Given the description of an element on the screen output the (x, y) to click on. 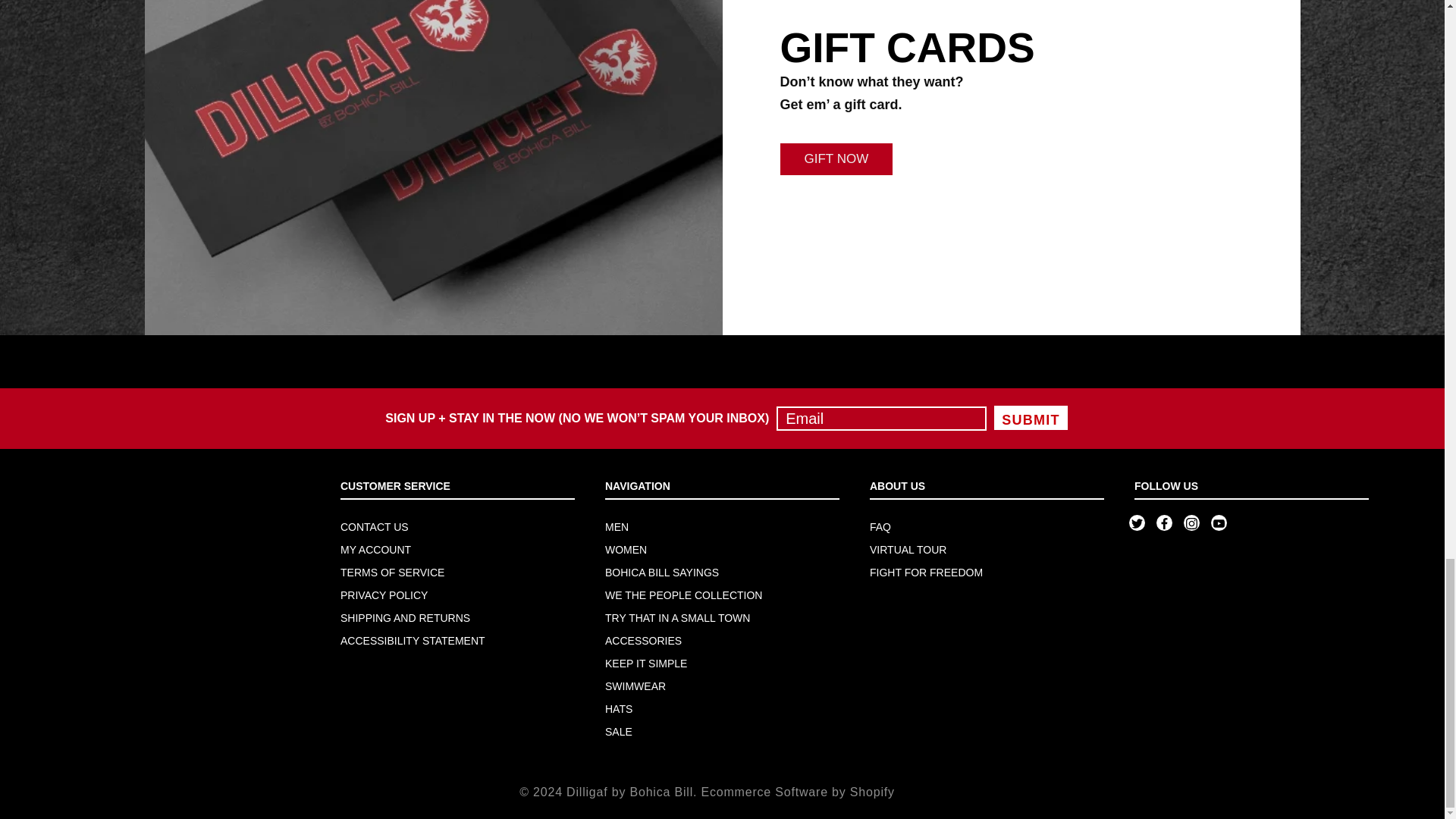
Instagram (1191, 523)
Twitter (1136, 523)
Youtube (1218, 523)
